Given the description of an element on the screen output the (x, y) to click on. 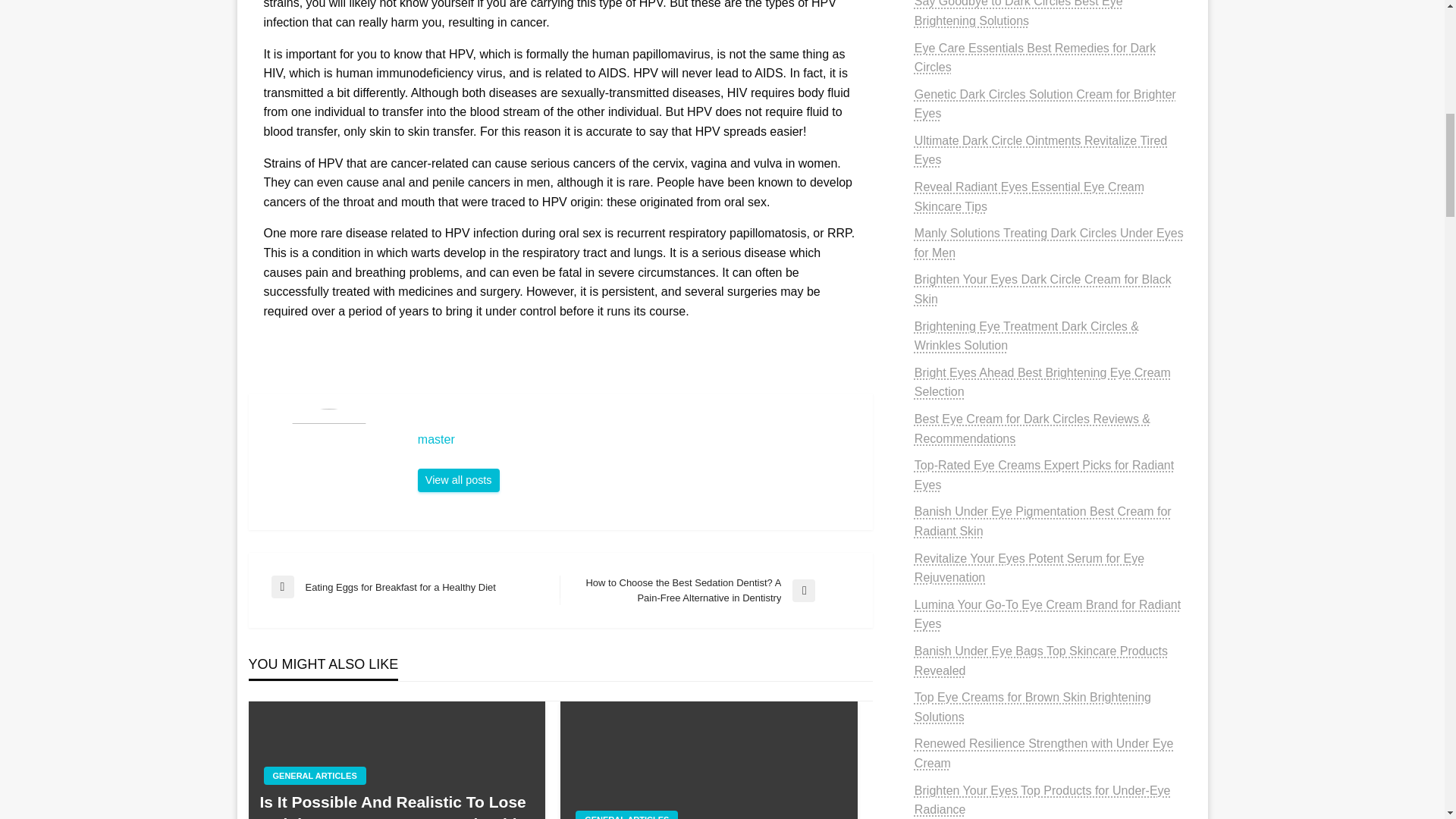
master (458, 480)
GENERAL ARTICLES (314, 775)
master (637, 439)
GENERAL ARTICLES (626, 814)
View all posts (415, 586)
master (458, 480)
